Given the description of an element on the screen output the (x, y) to click on. 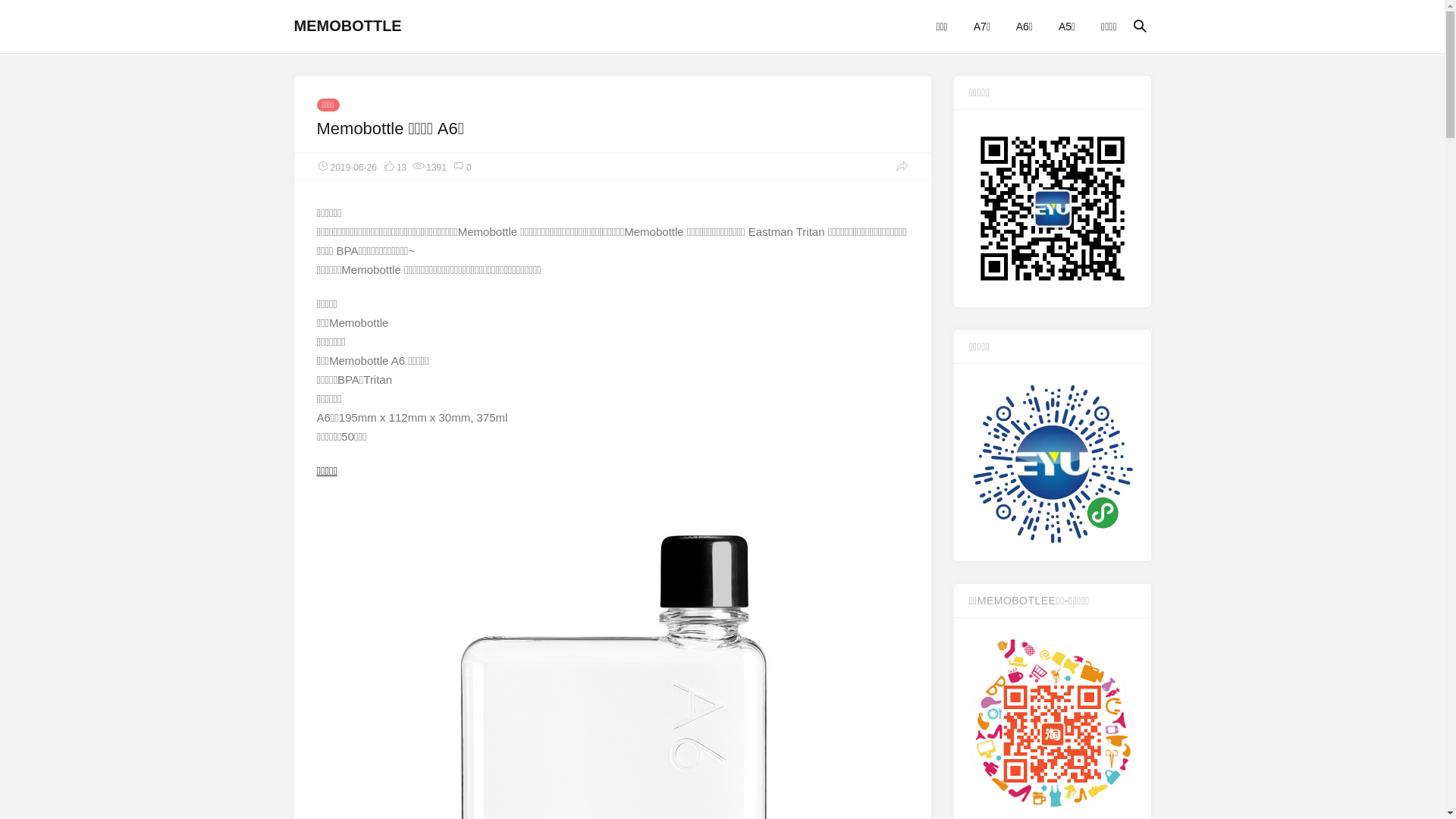
MEMOBOTTLE Element type: text (347, 25)
1391 Element type: text (429, 166)
2019-06-26 Element type: text (346, 166)
0 Element type: text (461, 166)
13 Element type: text (394, 166)
